Given the description of an element on the screen output the (x, y) to click on. 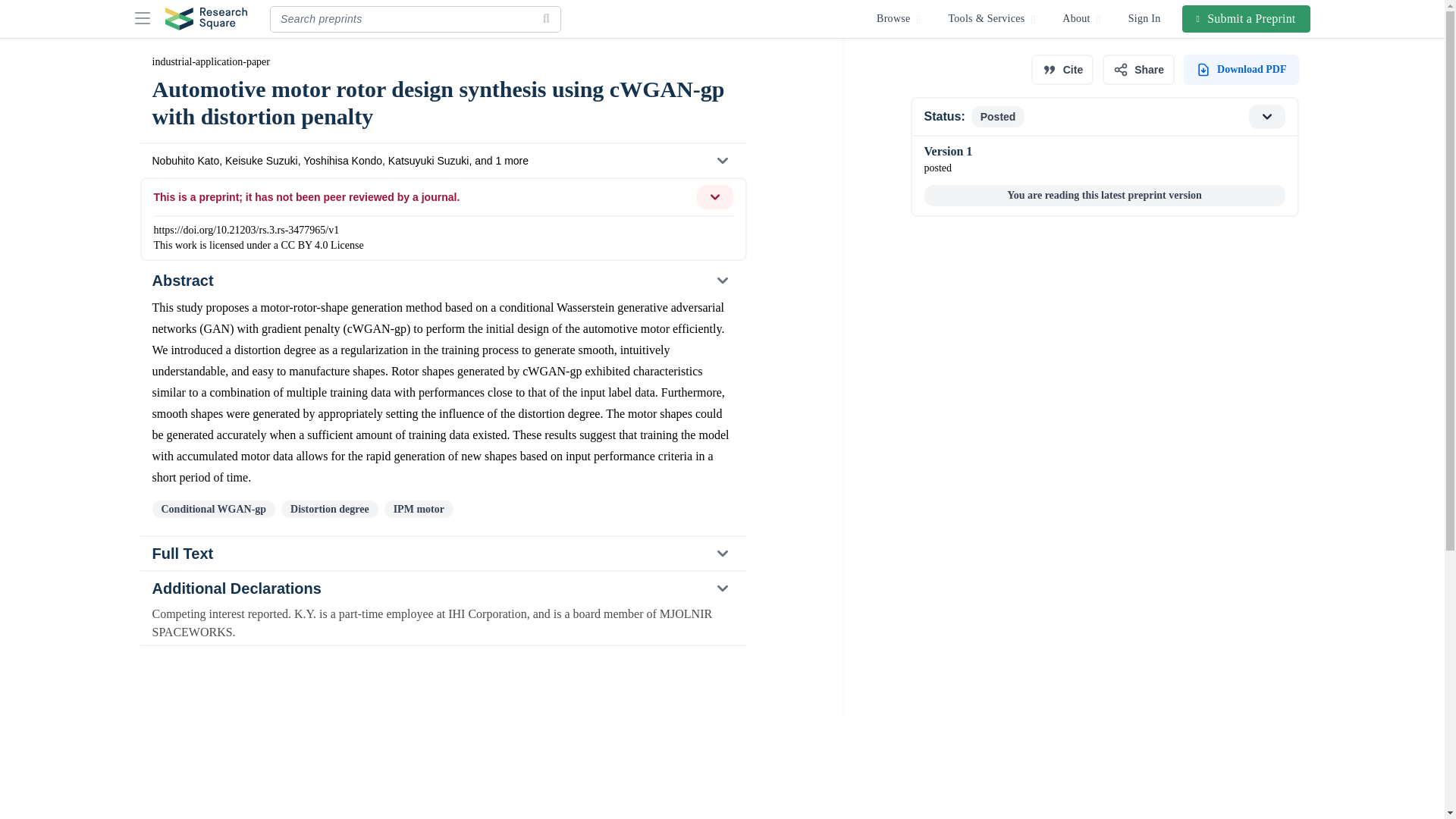
PDF (1240, 69)
Share (1138, 69)
Cite (1061, 69)
Abstract (442, 280)
Submit a Preprint (1246, 18)
Sign In (1144, 18)
Full Text (1103, 116)
Additional Declarations (442, 553)
